Given the description of an element on the screen output the (x, y) to click on. 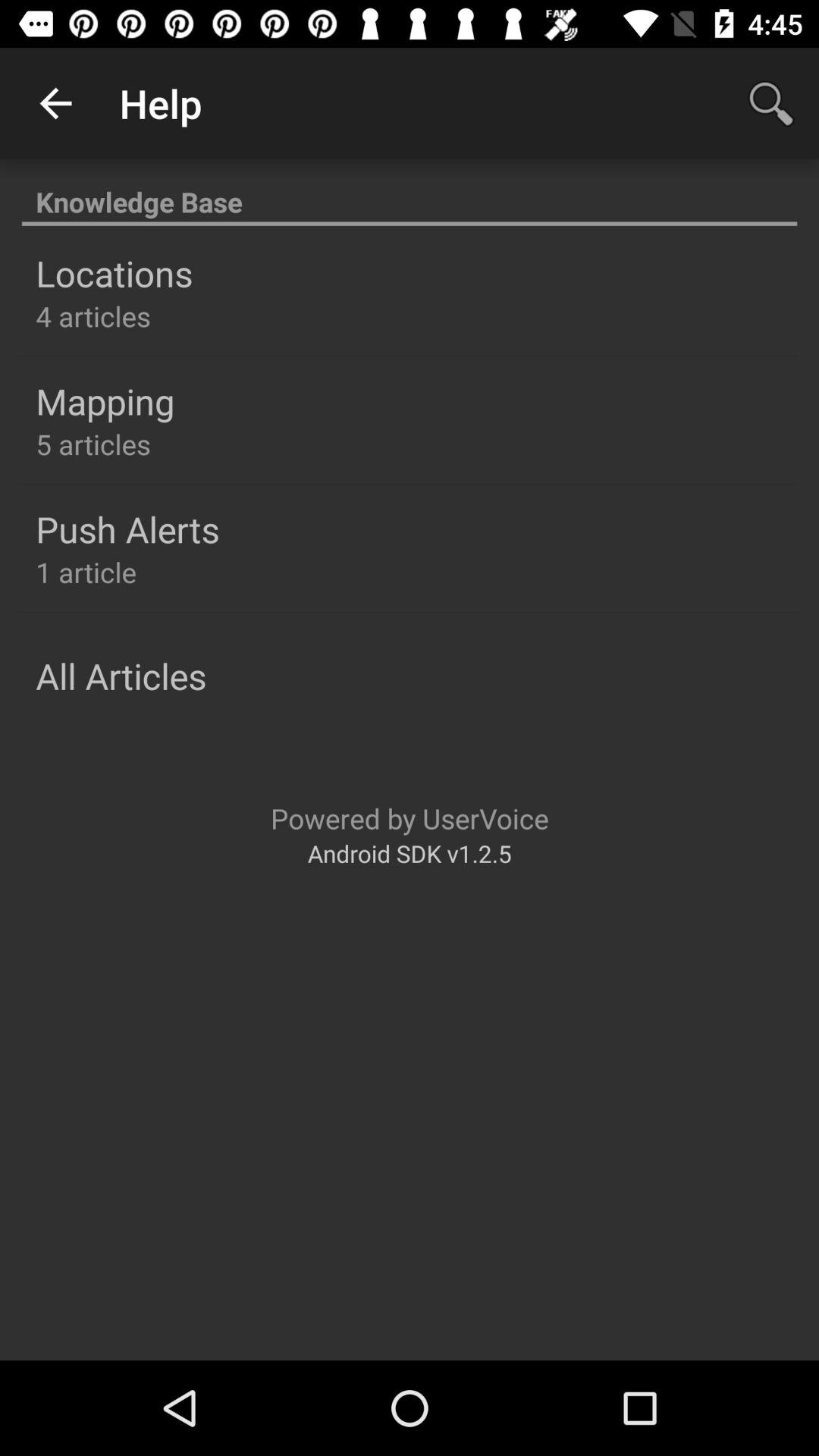
flip to the 1 article item (85, 571)
